Given the description of an element on the screen output the (x, y) to click on. 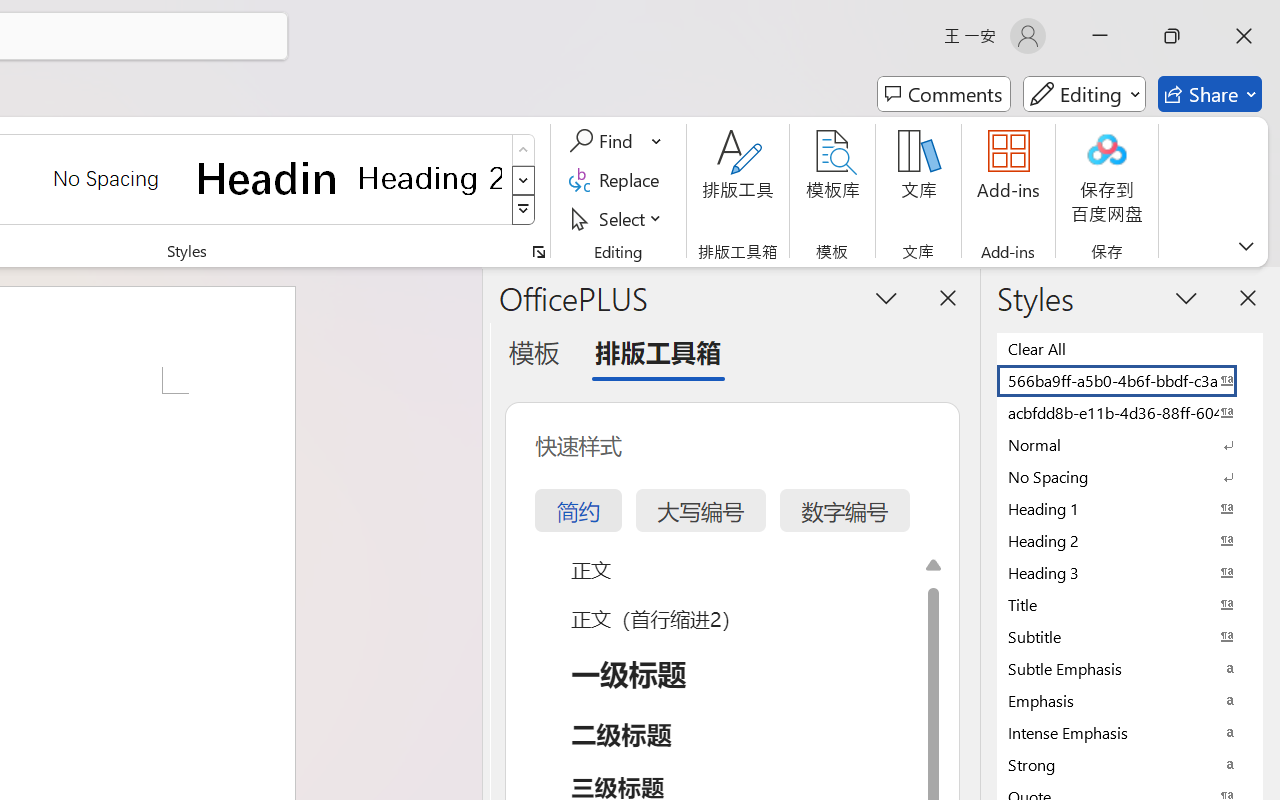
Replace... (617, 179)
Title (1130, 604)
Styles (523, 209)
Subtle Emphasis (1130, 668)
Find (604, 141)
Normal (1130, 444)
Intense Emphasis (1130, 732)
More Options (657, 141)
Comments (943, 94)
Emphasis (1130, 700)
Strong (1130, 764)
Restore Down (1172, 36)
